Given the description of an element on the screen output the (x, y) to click on. 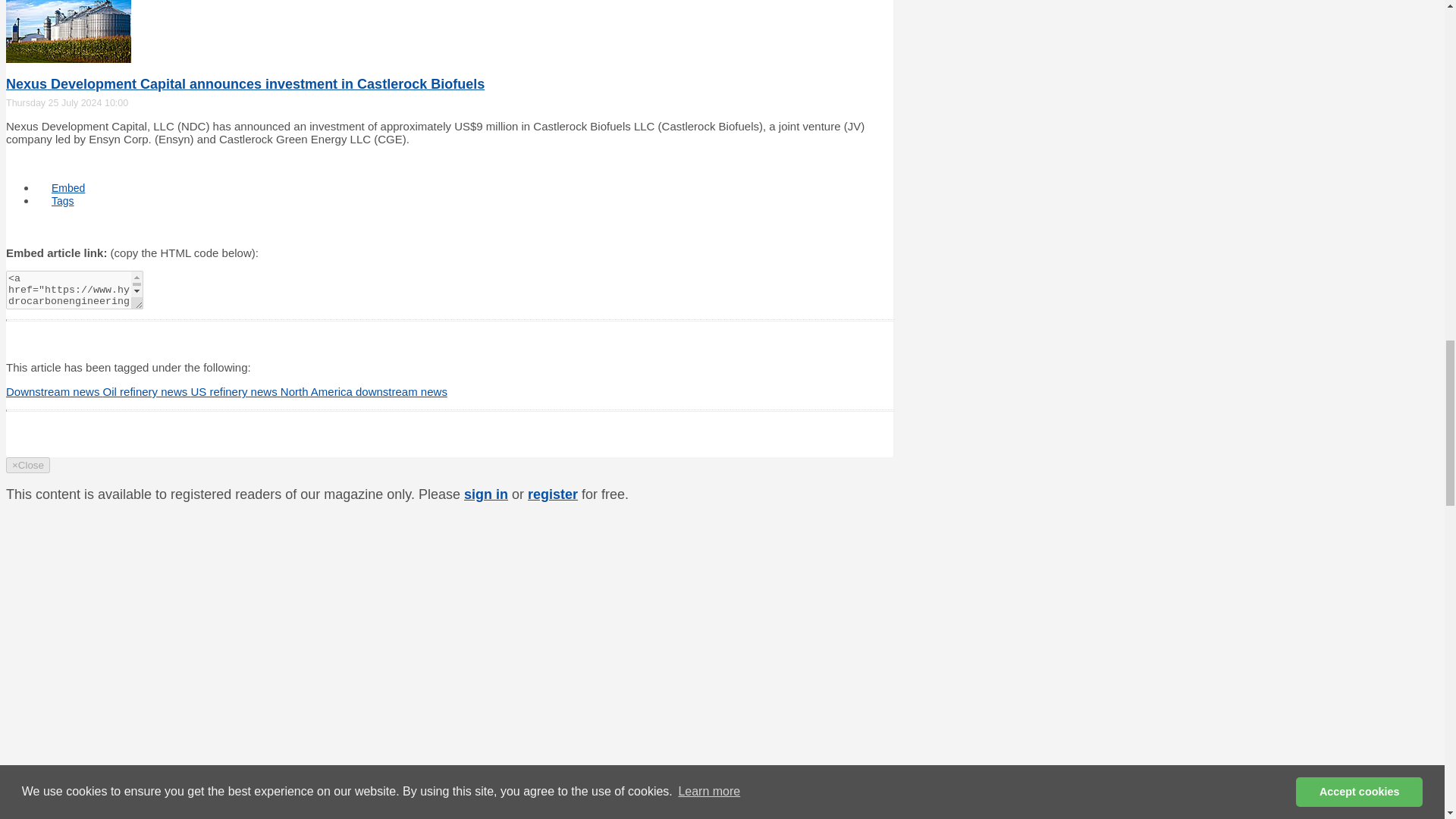
Embed (68, 187)
North America downstream news (363, 391)
3rd party ad content (774, 740)
3rd party ad content (774, 547)
US refinery news (234, 391)
Oil refinery news (146, 391)
Downstream news (54, 391)
Tags (62, 200)
sign in (486, 494)
